Given the description of an element on the screen output the (x, y) to click on. 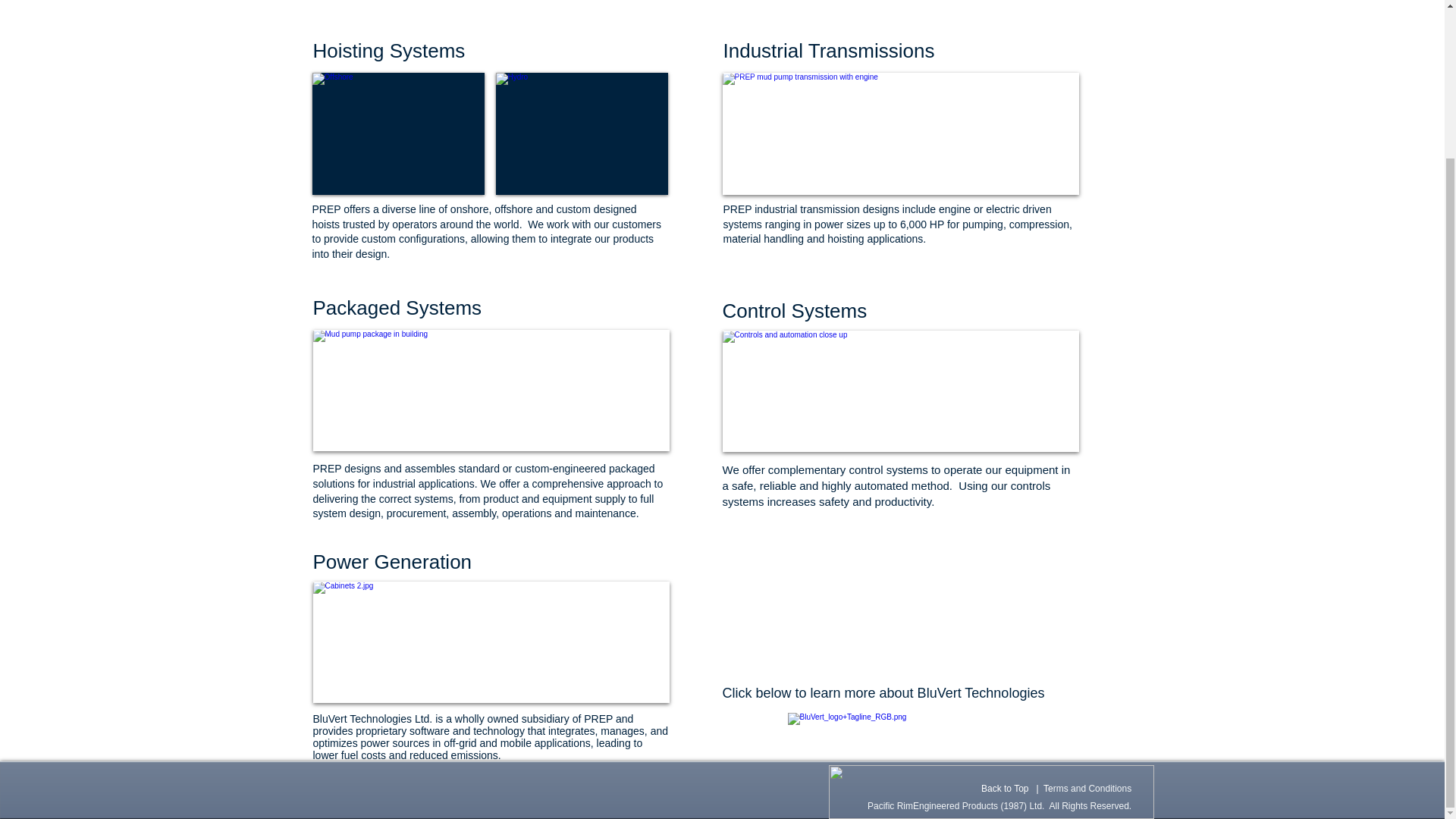
Terms and Conditions (1087, 787)
Drilling Rig Controls  (490, 641)
Drilling Rig Controls  (900, 391)
Mud pump transmission and engine (900, 133)
Mud pump package in building (490, 390)
 Back to Top  (1004, 787)
